Given the description of an element on the screen output the (x, y) to click on. 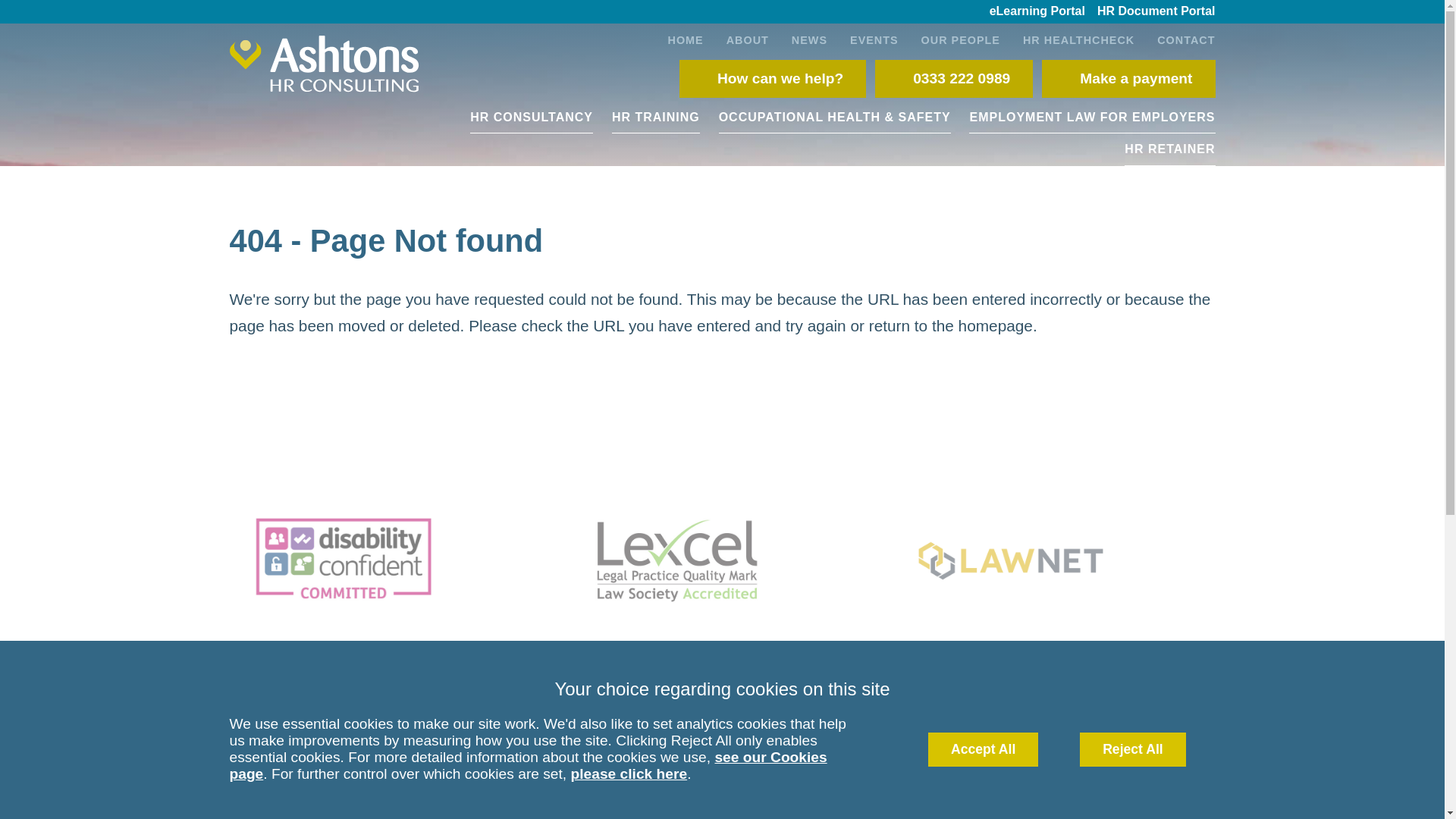
Disability Confident Committed Employer (387, 560)
EVENTS (874, 38)
Lexcel (721, 560)
Make a payment (1128, 78)
HR TRAINING (655, 117)
How can we help? (772, 78)
CONTACT (1179, 38)
LawNet (1055, 560)
HOME (685, 38)
NEWS (809, 38)
eLearning Portal (1037, 11)
Search the site (780, 703)
OUR PEOPLE (960, 38)
HR CONSULTANCY (531, 117)
HR HEALTHCHECK (1078, 38)
